Given the description of an element on the screen output the (x, y) to click on. 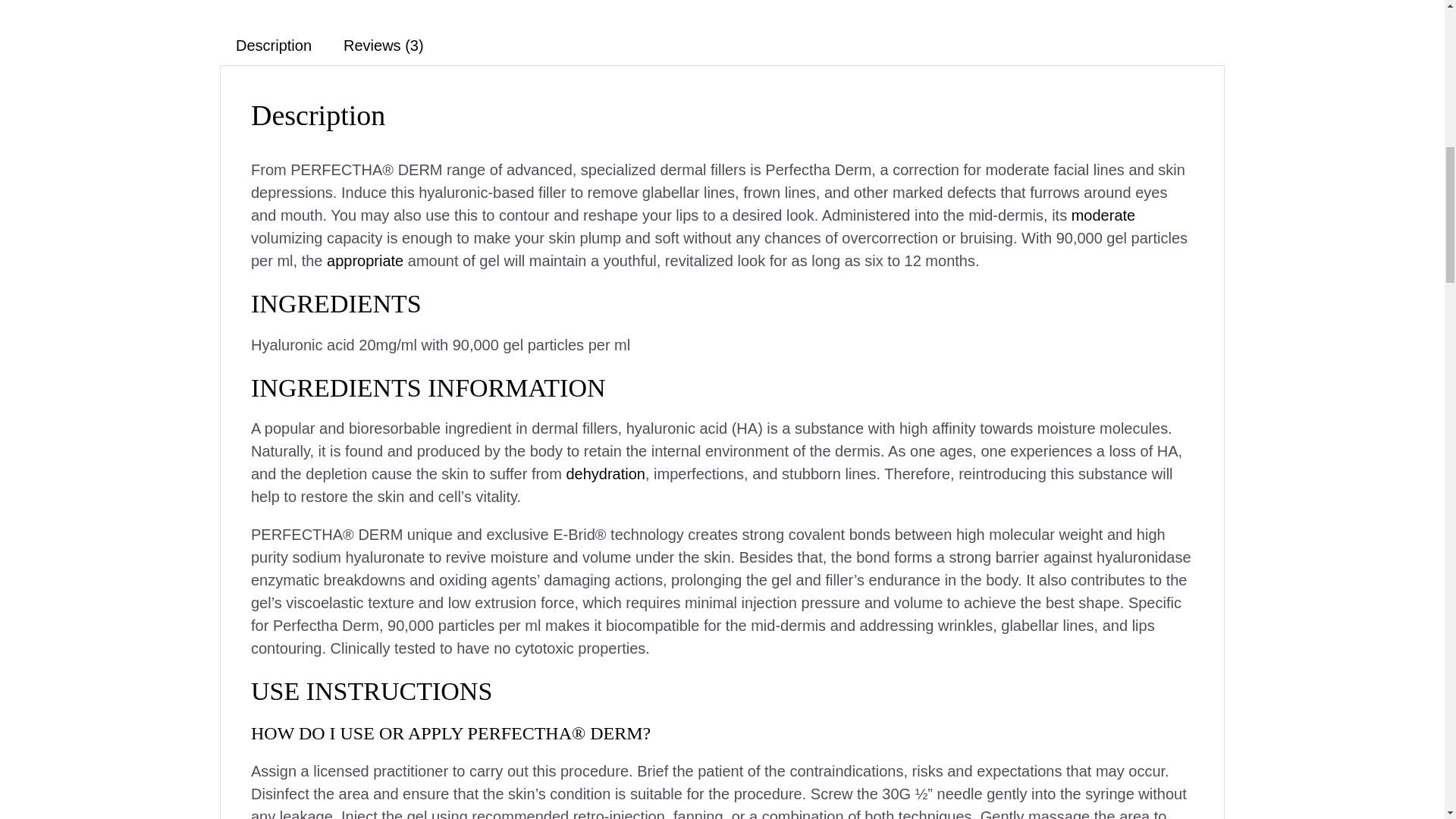
dehydration (605, 474)
Description (273, 45)
appropriate (364, 260)
moderate (1103, 215)
